Given the description of an element on the screen output the (x, y) to click on. 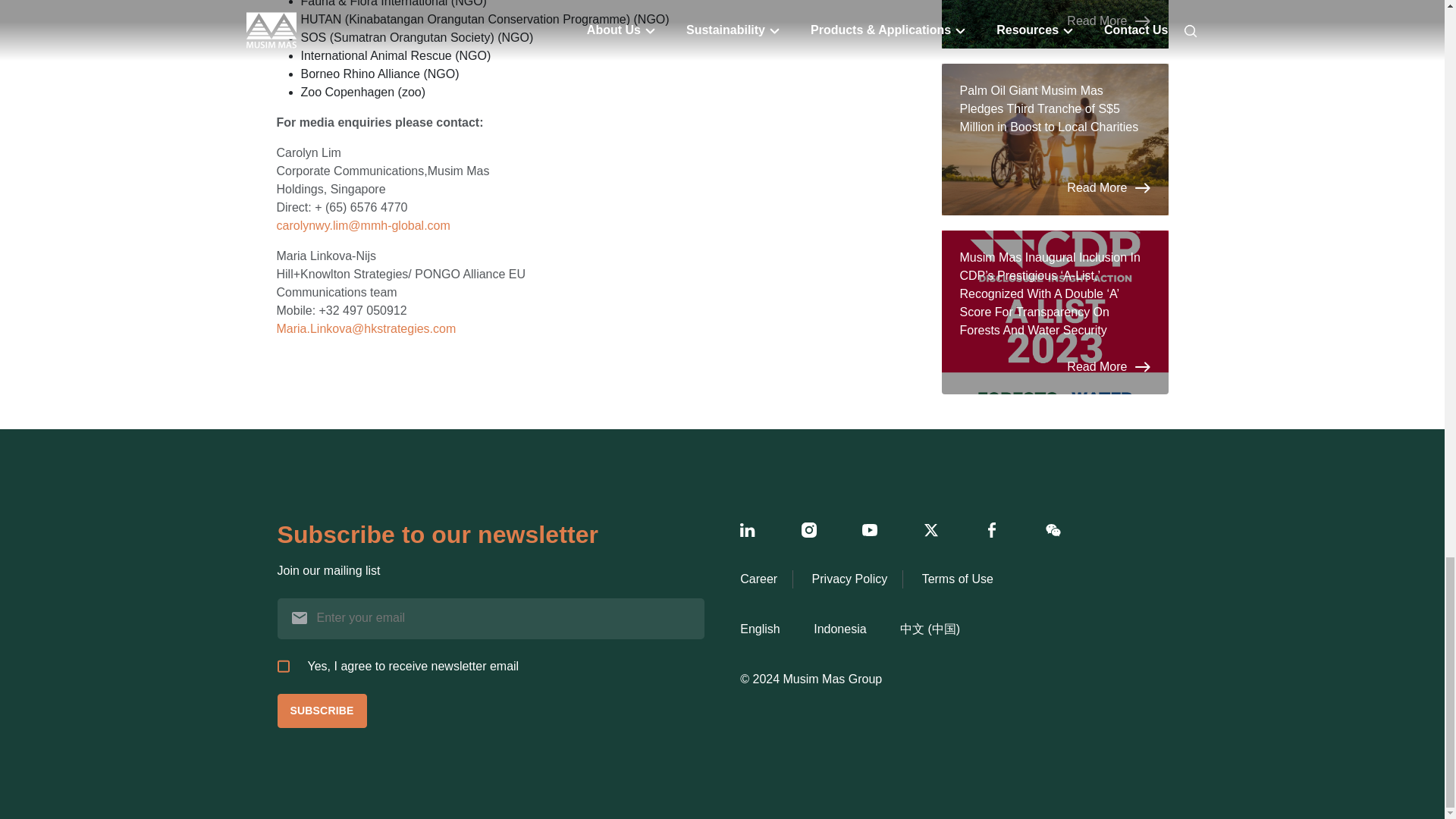
SUBSCRIBE (322, 710)
1 (283, 666)
